Given the description of an element on the screen output the (x, y) to click on. 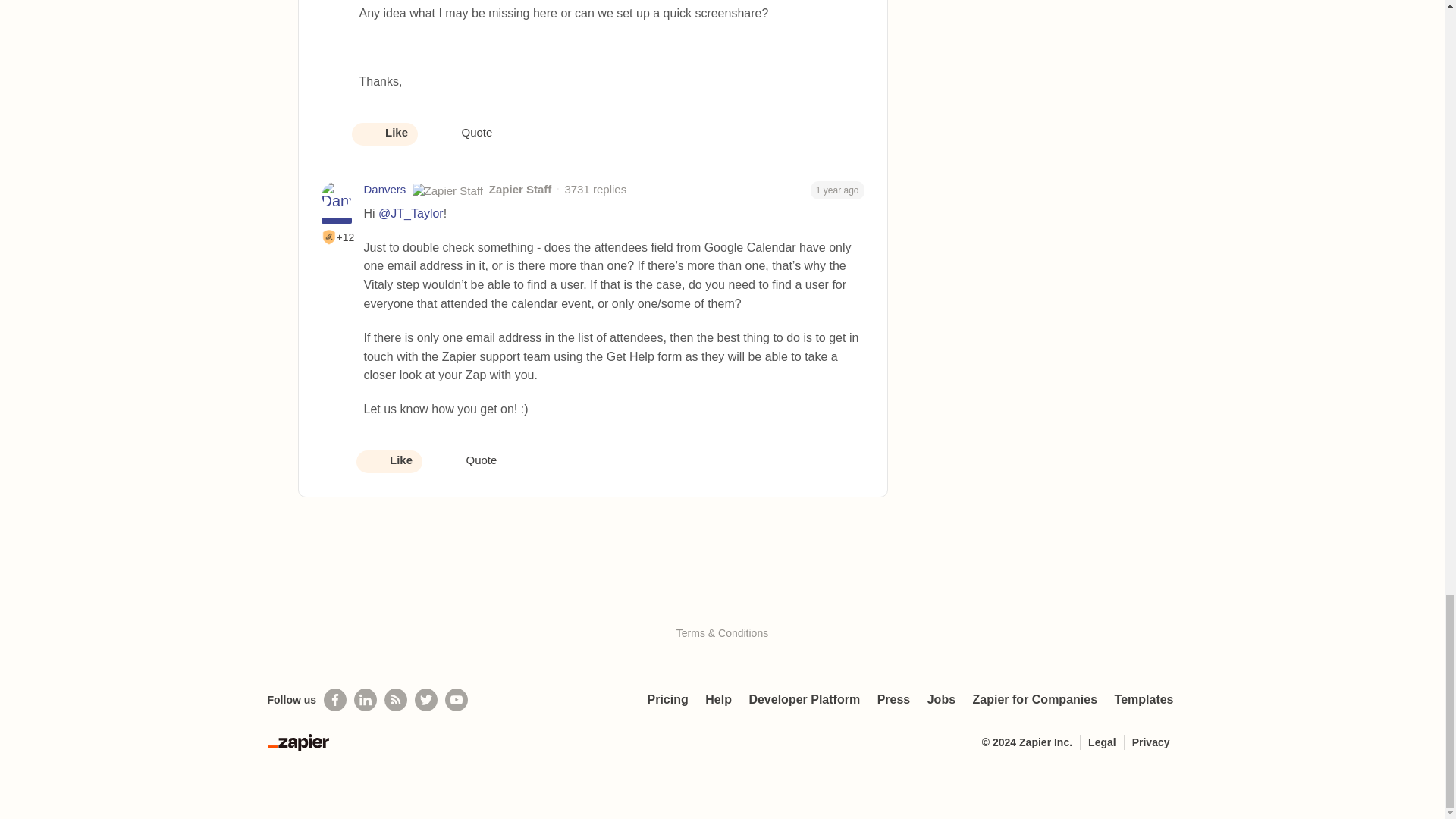
First Best Answer (328, 237)
Follow us on LinkedIn (365, 699)
Subscribe to our blog (395, 699)
Follow us on Facebook (334, 699)
Visit Gainsight.com (722, 601)
Danvers (385, 189)
